Given the description of an element on the screen output the (x, y) to click on. 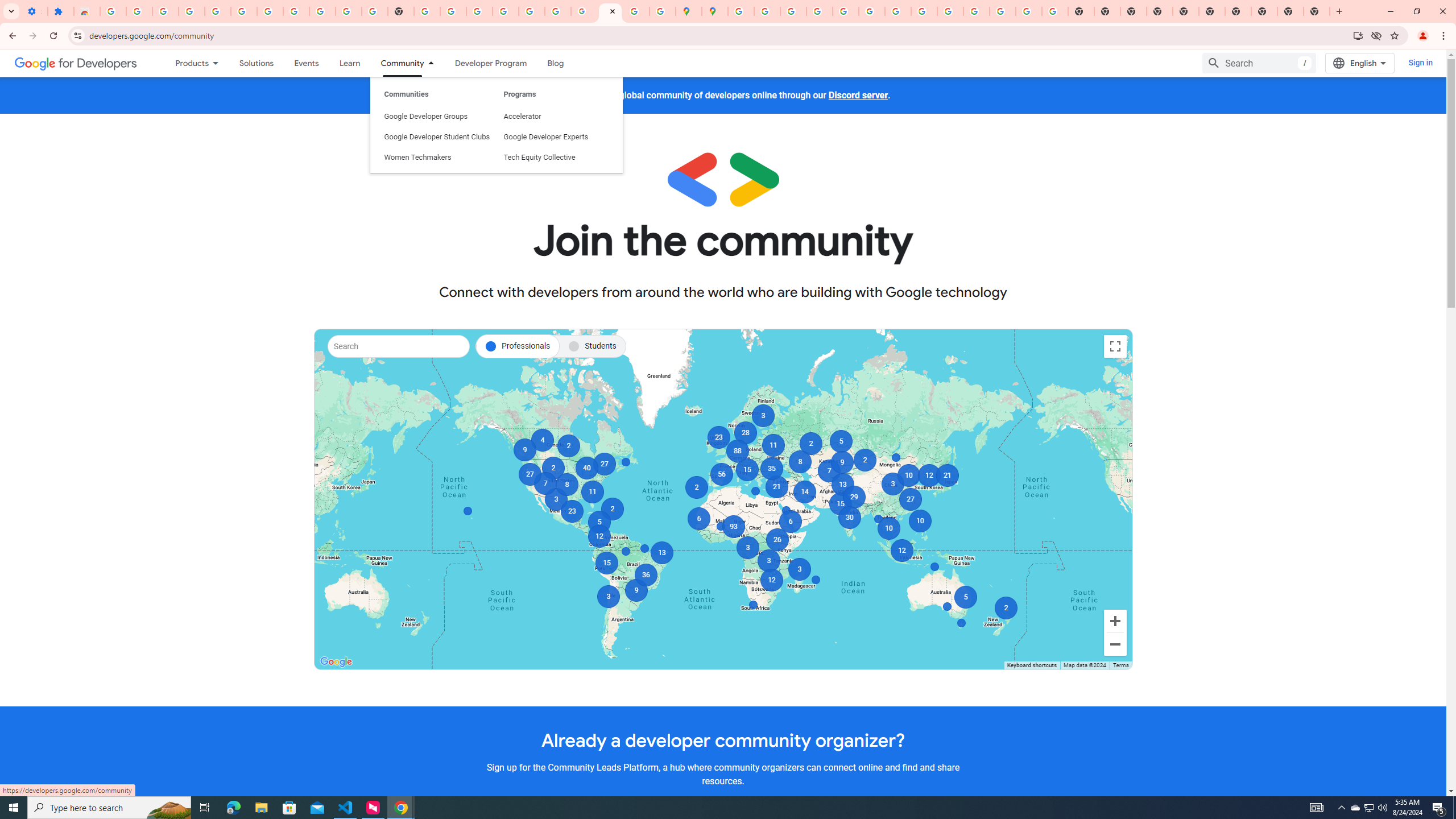
Privacy Help Center - Policies Help (792, 11)
Google Account (322, 11)
27 (603, 463)
YouTube (897, 11)
14 (804, 491)
Learn how to find your photos - Google Photos Help (217, 11)
29 (854, 496)
